Given the description of an element on the screen output the (x, y) to click on. 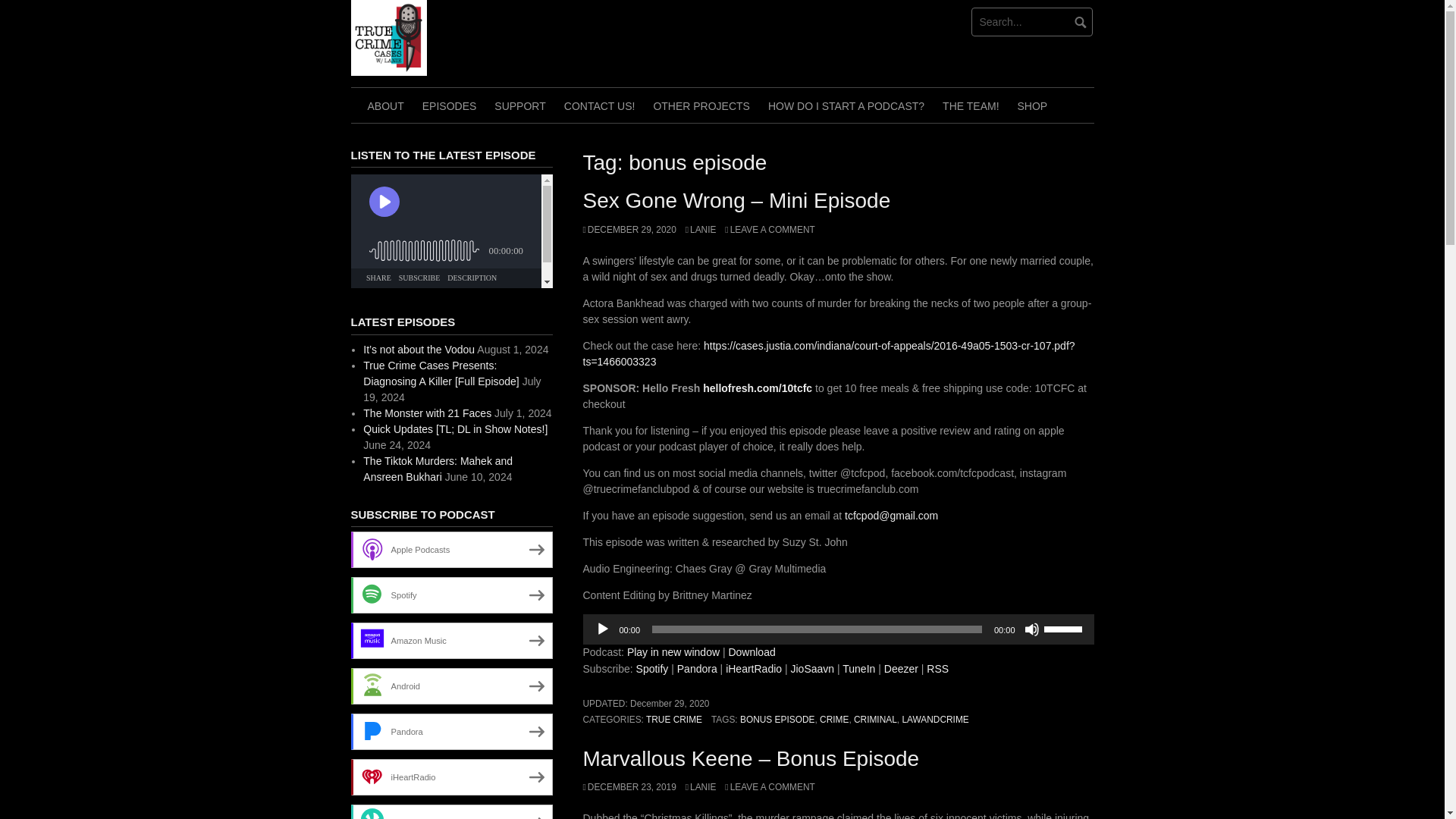
DECEMBER 29, 2020 (628, 229)
DECEMBER 23, 2019 (628, 787)
Play in new window (673, 652)
TuneIn (859, 668)
Play (602, 629)
LANIE (700, 229)
HOW DO I START A PODCAST? (845, 104)
TRUE CRIME (673, 719)
CRIMINAL (874, 719)
EPISODES (449, 104)
Download (751, 652)
Subscribe on TuneIn (859, 668)
THE TEAM! (970, 104)
Subscribe on iHeartRadio (753, 668)
December 29, 2020 (669, 703)
